Given the description of an element on the screen output the (x, y) to click on. 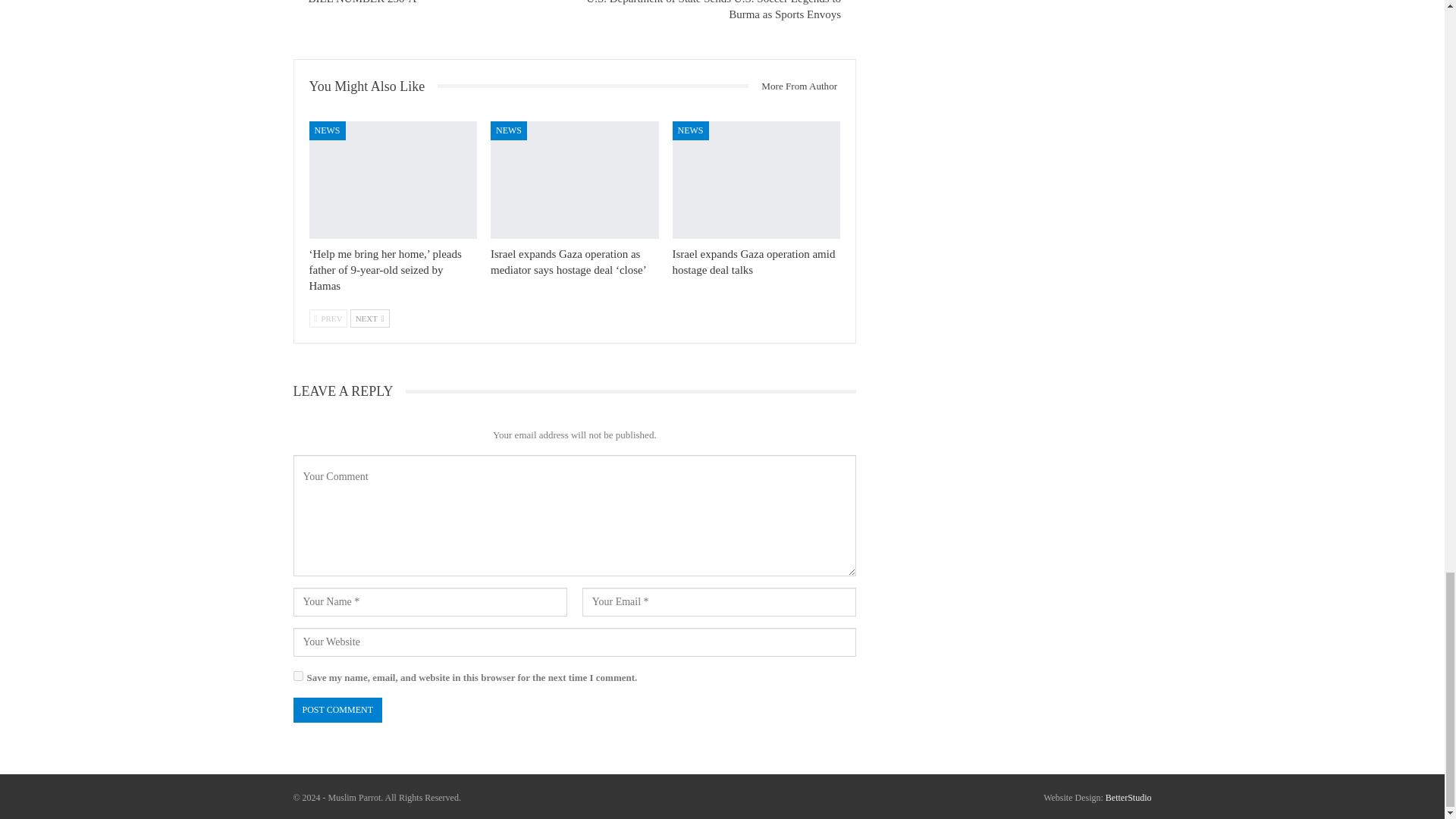
Post Comment (336, 709)
yes (297, 675)
